Given the description of an element on the screen output the (x, y) to click on. 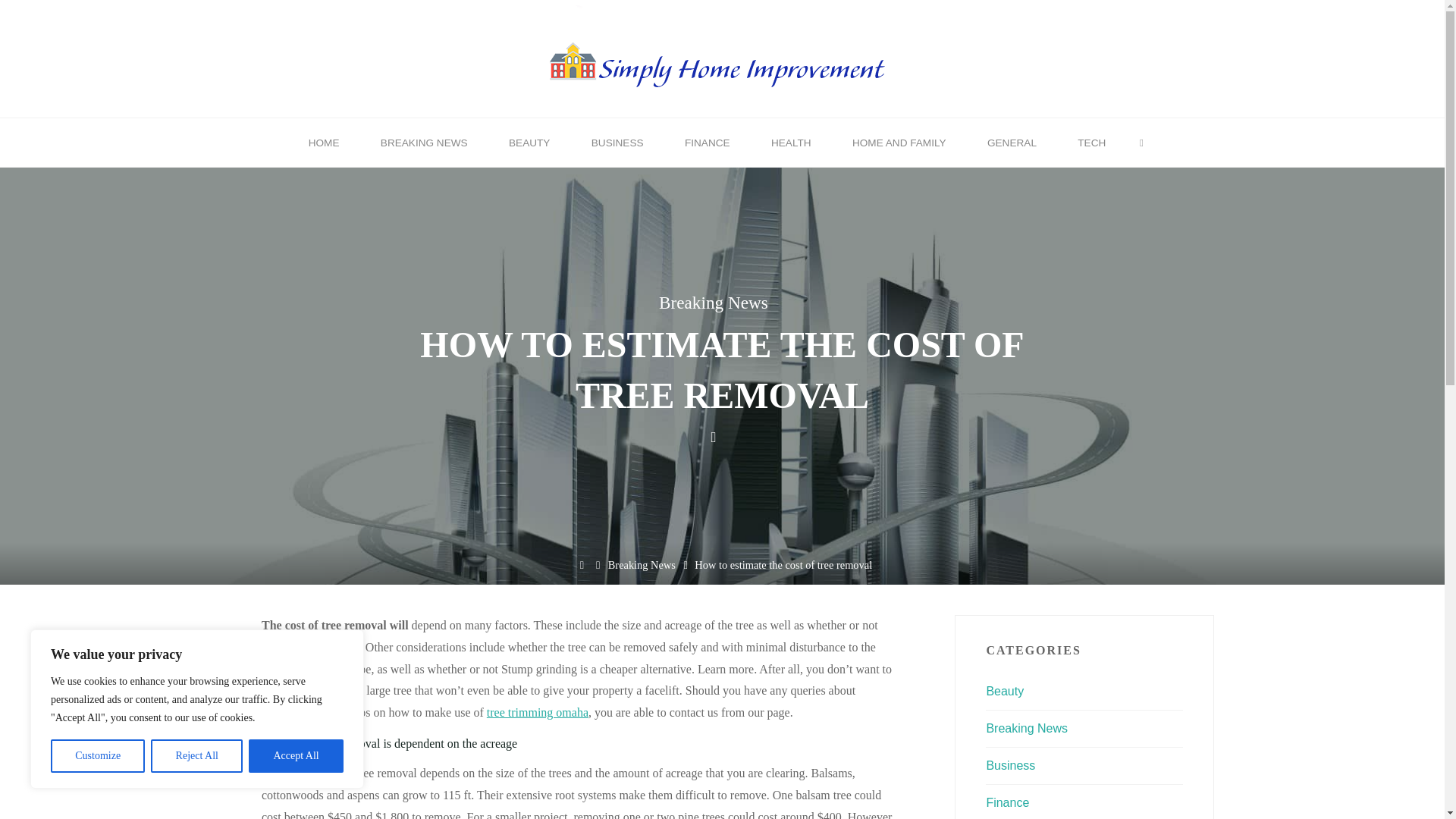
Simply Home Improvement (721, 56)
HOME (323, 142)
Date (713, 437)
GENERAL (1011, 142)
BUSINESS (616, 142)
HEALTH (791, 142)
BEAUTY (528, 142)
Home (581, 564)
HOME AND FAMILY (898, 142)
Reject All (197, 756)
